Given the description of an element on the screen output the (x, y) to click on. 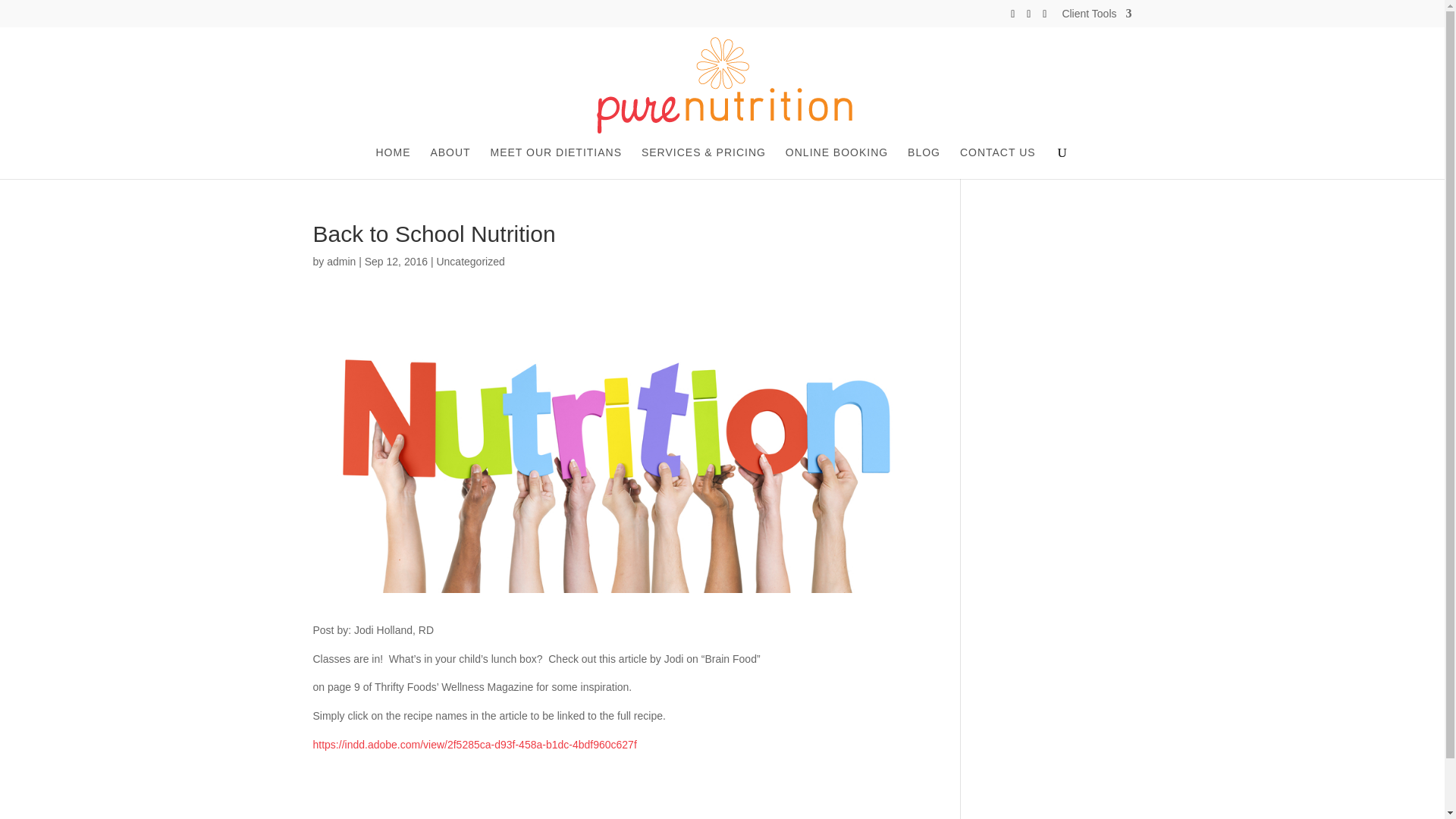
Client Tools (1096, 16)
ABOUT (449, 163)
MEET OUR DIETITIANS (555, 163)
HOME (392, 163)
admin (340, 261)
BLOG (923, 163)
Uncategorized (469, 261)
CONTACT US (997, 163)
ONLINE BOOKING (837, 163)
Posts by admin (340, 261)
